Given the description of an element on the screen output the (x, y) to click on. 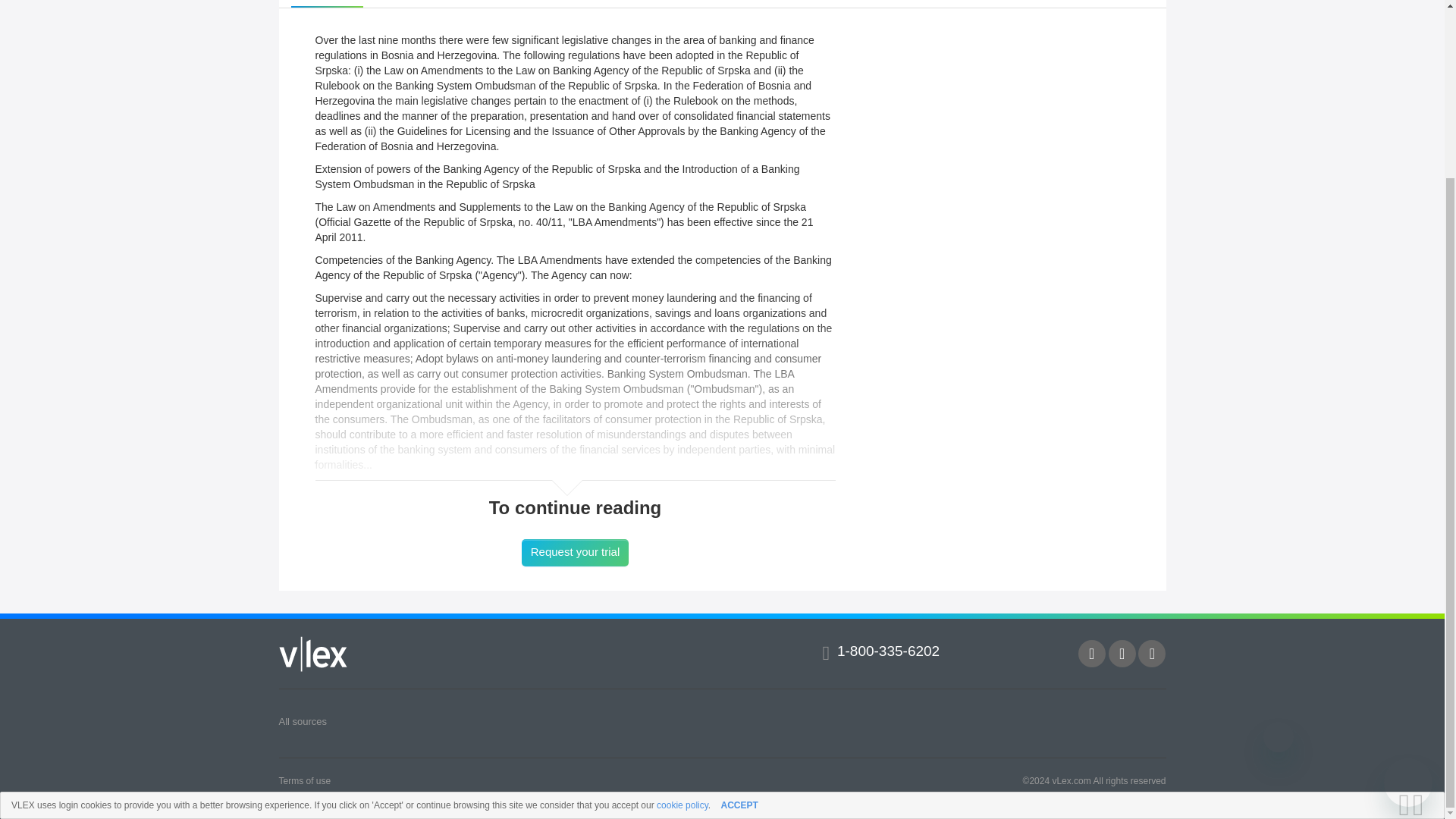
vLex (313, 653)
ACCEPT (739, 587)
cookie policy (681, 587)
All sources (303, 721)
Close message (1278, 519)
Terms of use (305, 780)
CLOSE (1422, 587)
Button to launch messaging window (1408, 564)
All sources (303, 721)
Terms of use (305, 780)
